Given the description of an element on the screen output the (x, y) to click on. 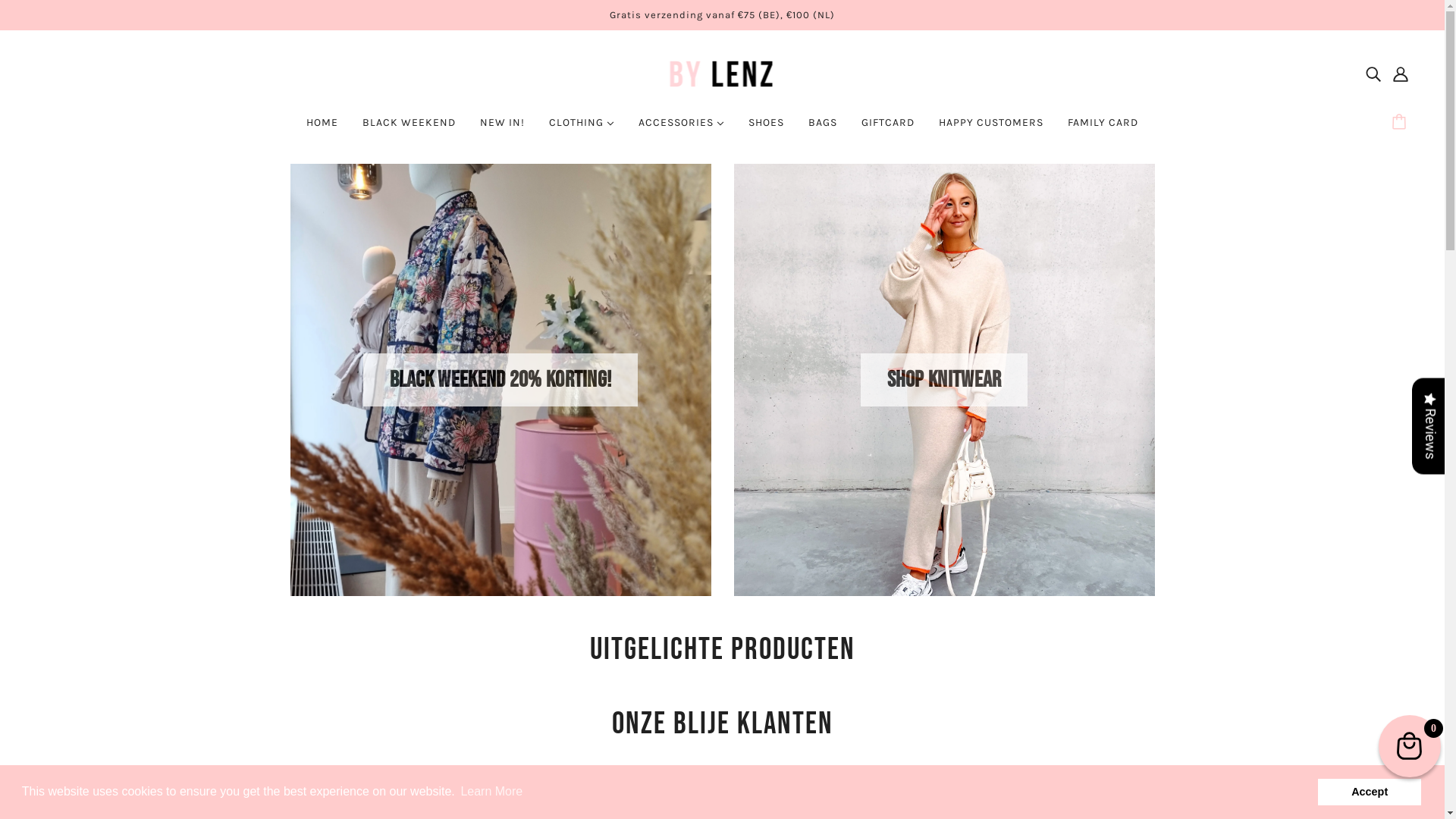
shop knitwear Element type: text (944, 379)
HOME Element type: text (322, 128)
BLACK WEEKEND 20% KORTING! Element type: text (500, 379)
BAGS Element type: text (822, 128)
Accept Element type: text (1369, 791)
By Lenz Element type: hover (721, 72)
NEW IN! Element type: text (501, 128)
CLOTHING Element type: text (581, 128)
GIFTCARD Element type: text (887, 128)
ACCESSORIES Element type: text (681, 128)
FAMILY CARD Element type: text (1102, 128)
HAPPY CUSTOMERS Element type: text (990, 128)
SHOES Element type: text (766, 128)
BLACK WEEKEND Element type: text (408, 128)
Learn More Element type: text (491, 791)
